Given the description of an element on the screen output the (x, y) to click on. 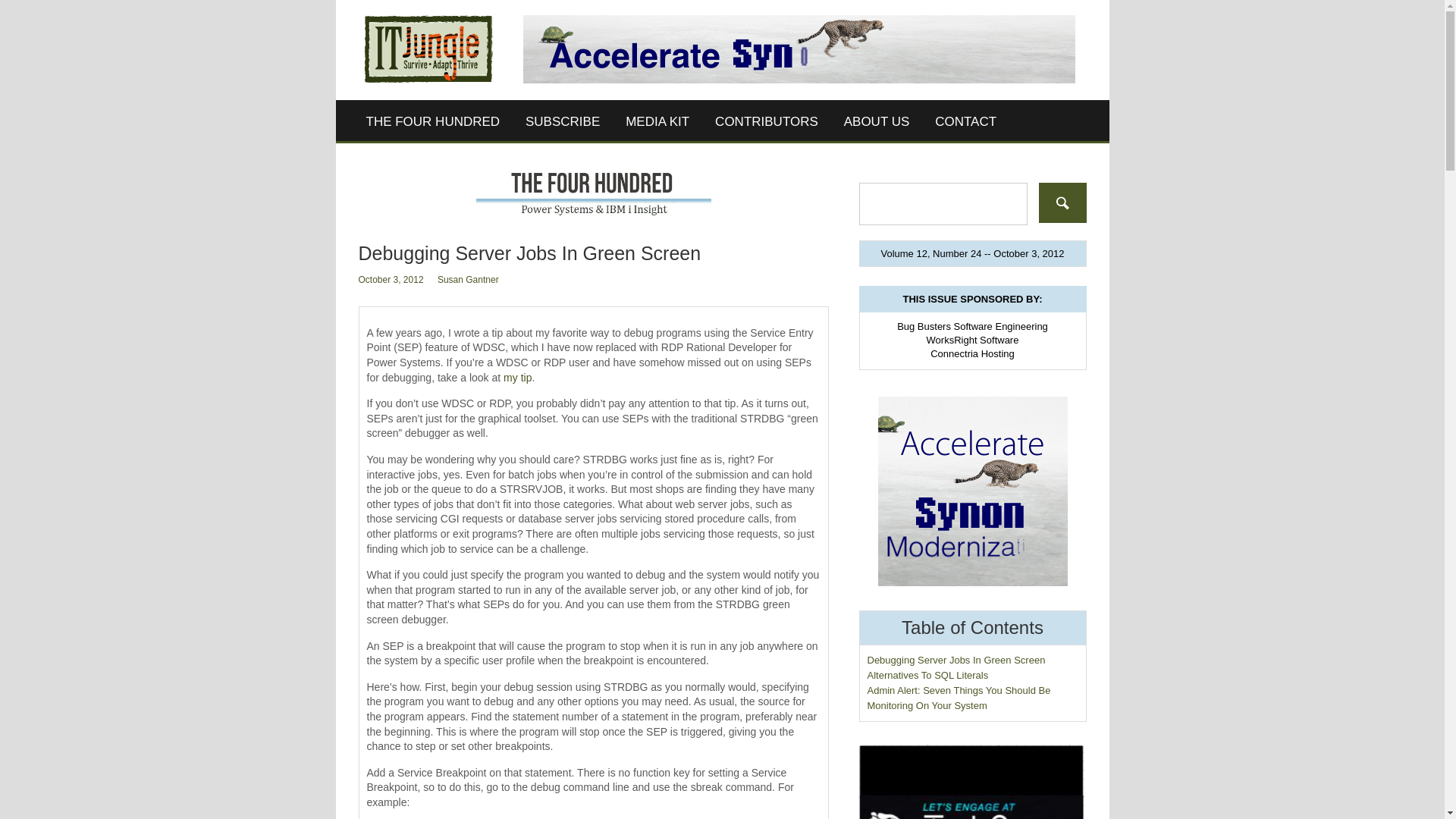
CONTACT (965, 121)
THE FOUR HUNDRED (433, 121)
SUBSCRIBE (562, 121)
my tip (517, 377)
CONTRIBUTORS (766, 121)
ABOUT US (876, 121)
MEDIA KIT (657, 121)
Search (1062, 202)
